Given the description of an element on the screen output the (x, y) to click on. 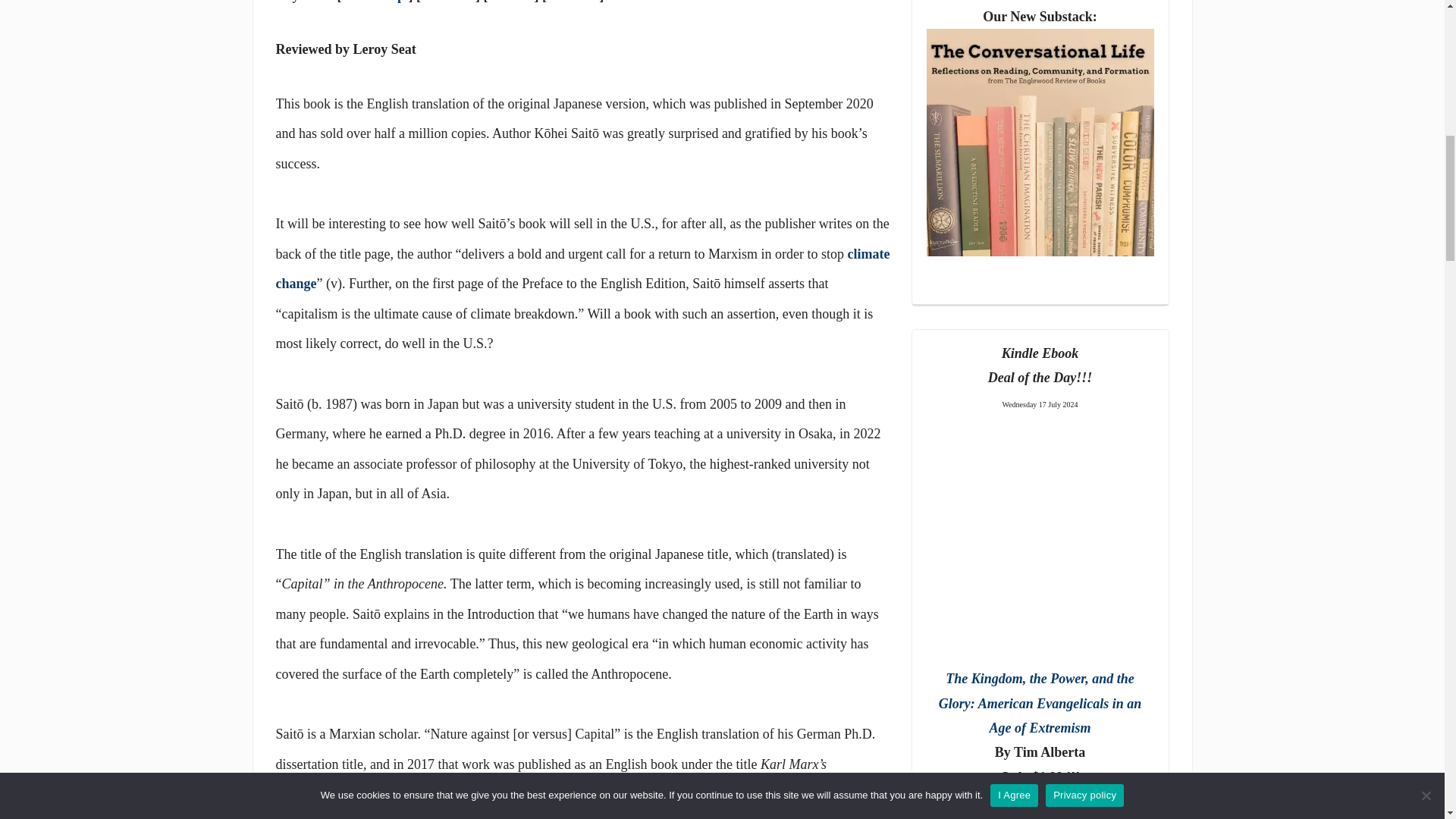
Kindle (511, 1)
Amazon (447, 1)
climate change (582, 268)
Audible (572, 1)
BookShop (374, 1)
climate change (582, 268)
